Given the description of an element on the screen output the (x, y) to click on. 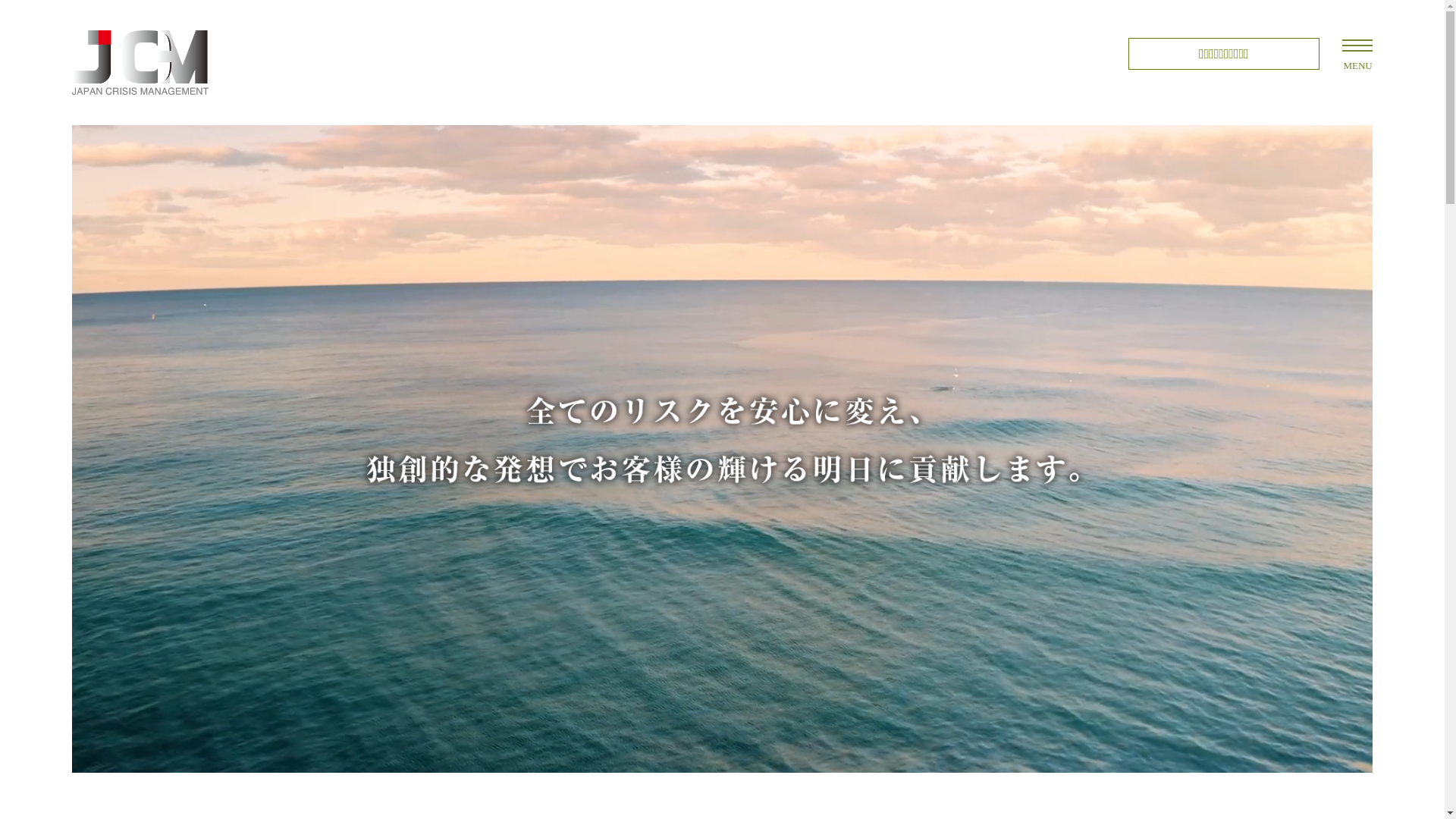
MENU Element type: text (1357, 45)
